Given the description of an element on the screen output the (x, y) to click on. 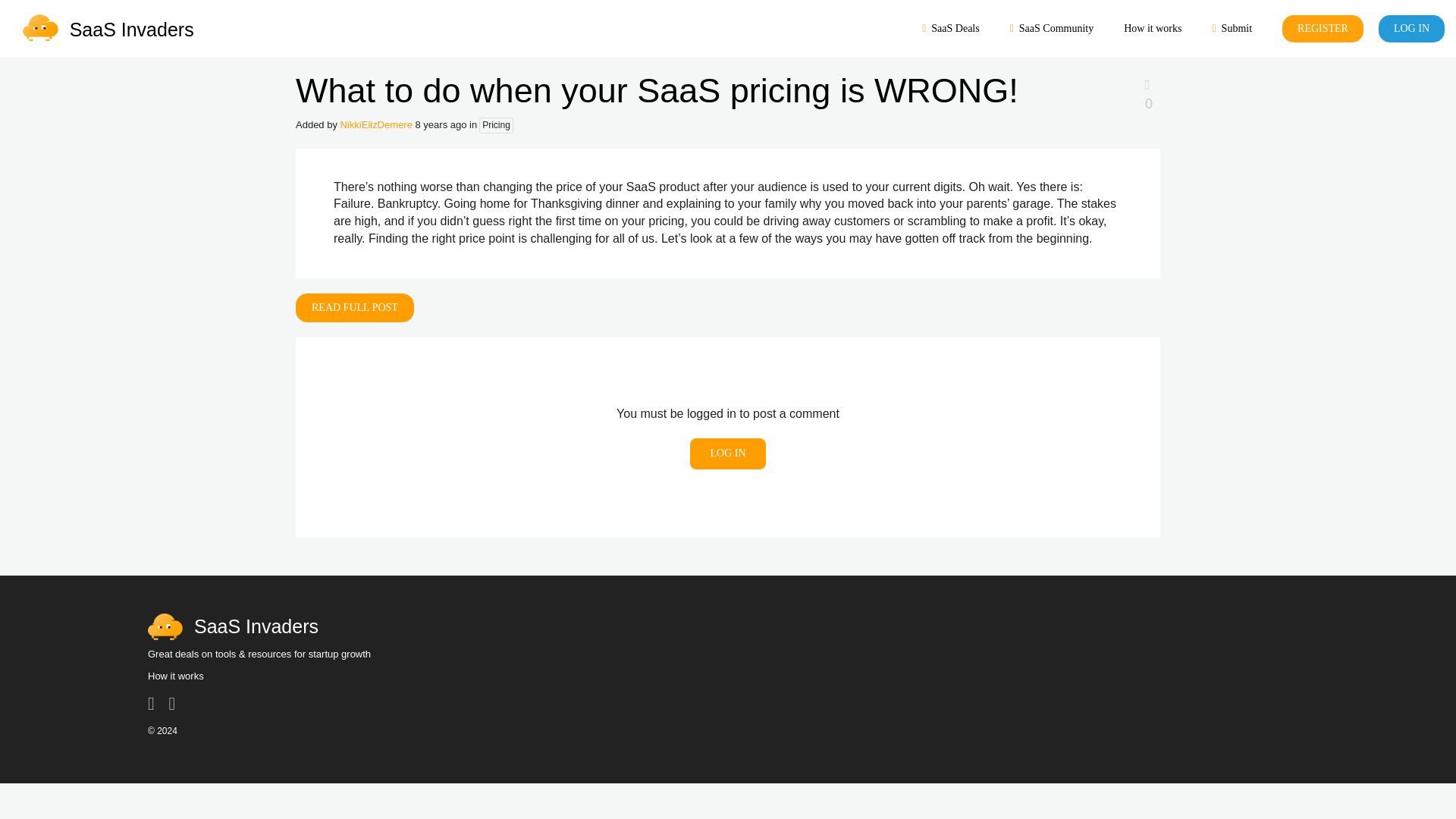
SaaS Invaders (727, 625)
How it works (1152, 28)
  Submit (1231, 28)
NikkiElizDemere (377, 124)
LOG IN (1411, 28)
Log in (727, 453)
How it works (175, 675)
What to do when your SaaS pricing is WRONG! (656, 90)
  SaaS Community (1051, 28)
  SaaS Deals (950, 28)
